Given the description of an element on the screen output the (x, y) to click on. 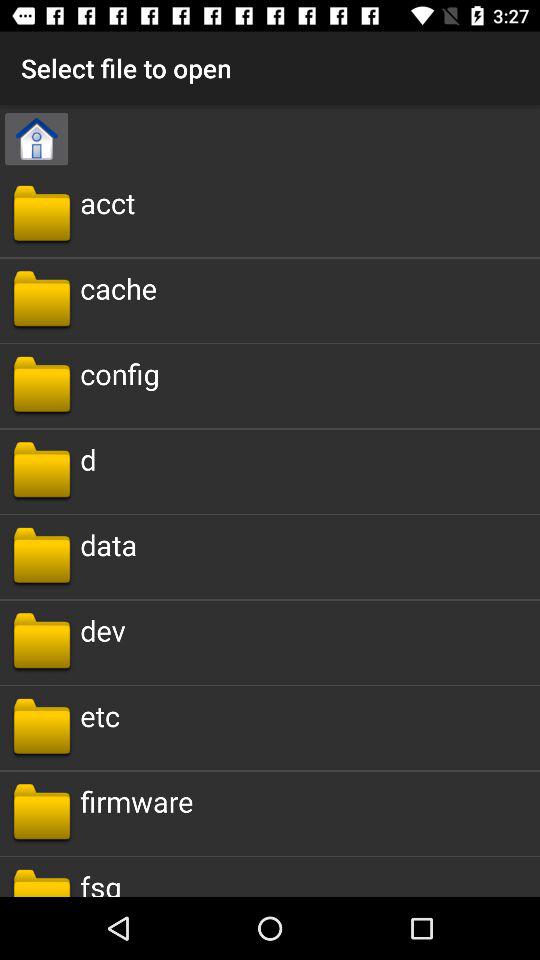
go home (36, 139)
